Given the description of an element on the screen output the (x, y) to click on. 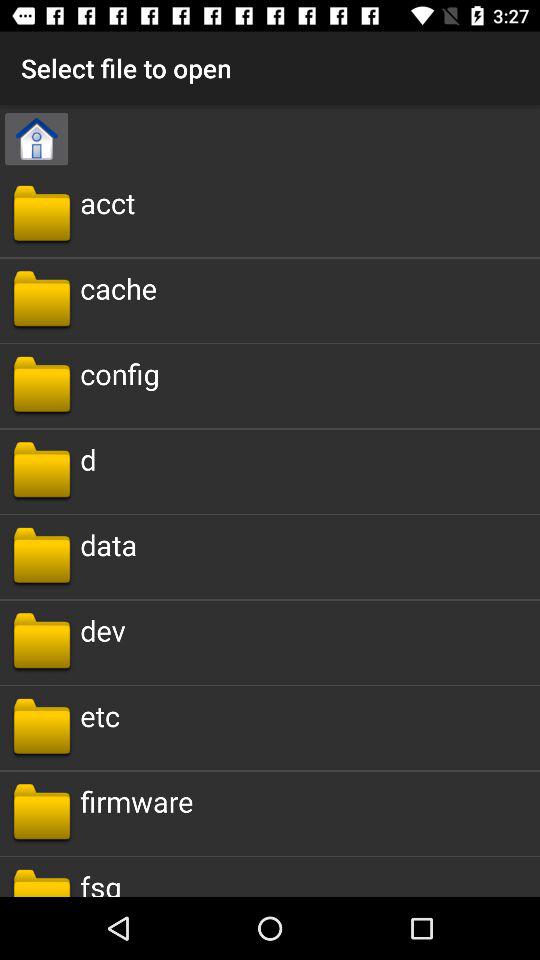
go home (36, 139)
